Given the description of an element on the screen output the (x, y) to click on. 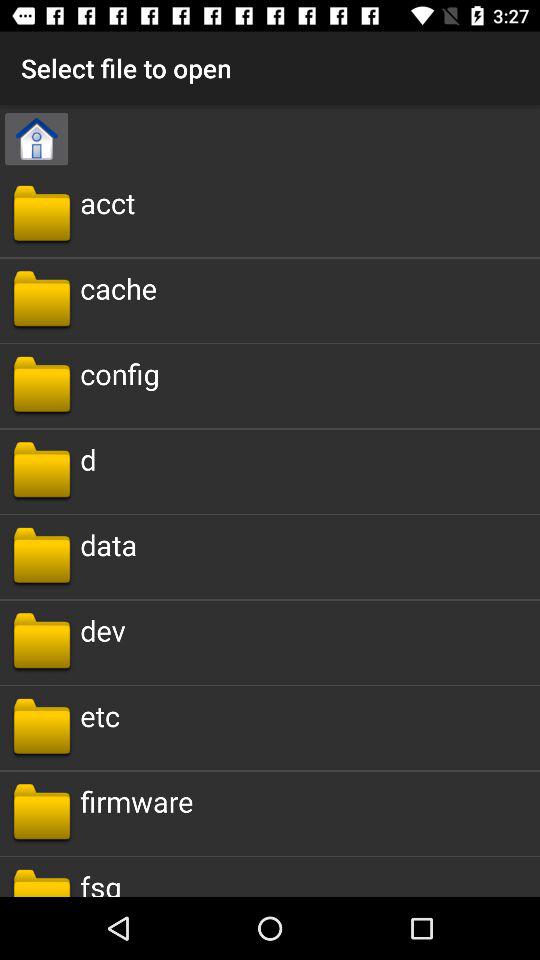
go home (36, 139)
